Given the description of an element on the screen output the (x, y) to click on. 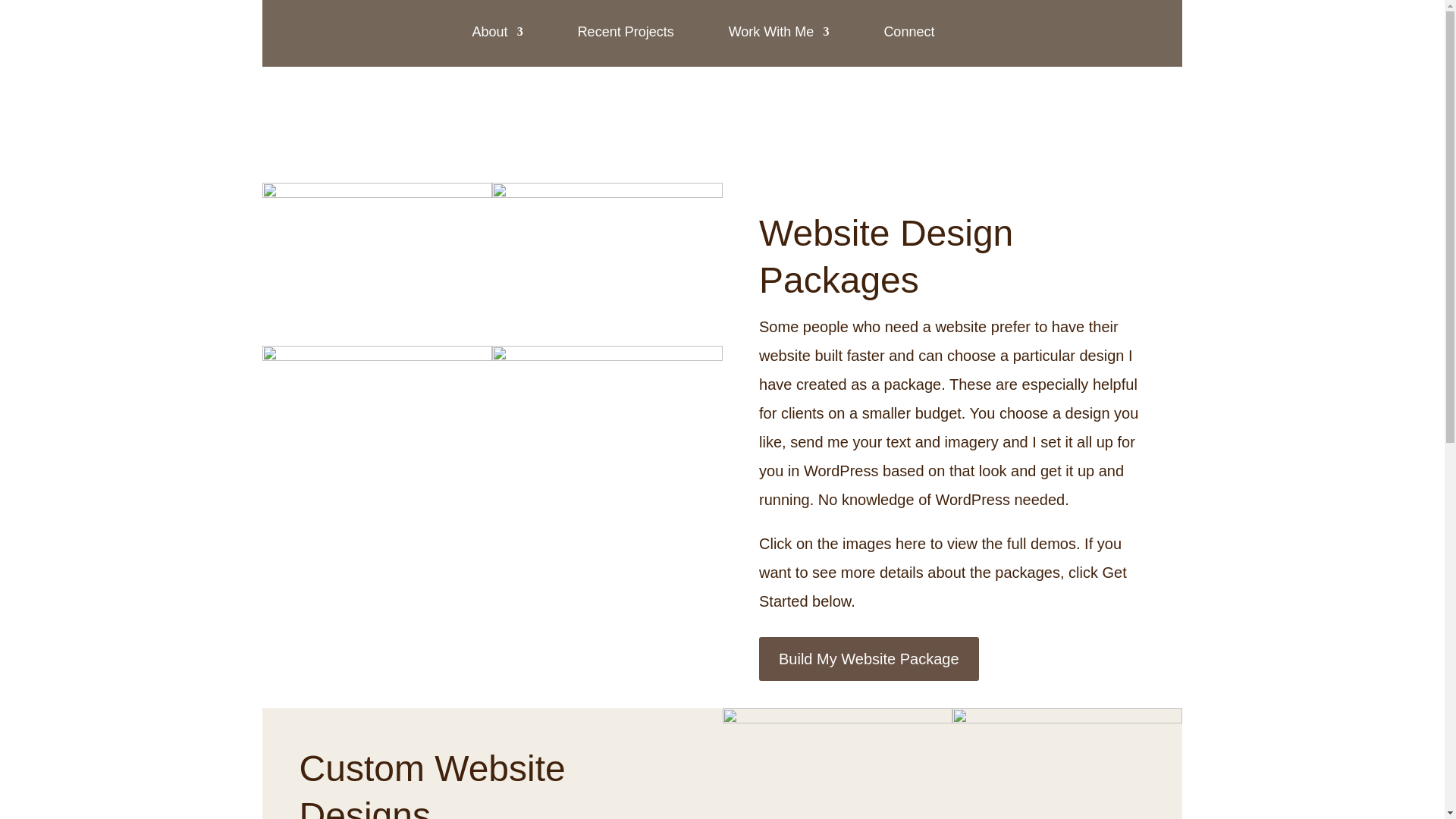
Build My Website Package (868, 658)
Work With Me (779, 31)
Recent Projects (626, 31)
